Given the description of an element on the screen output the (x, y) to click on. 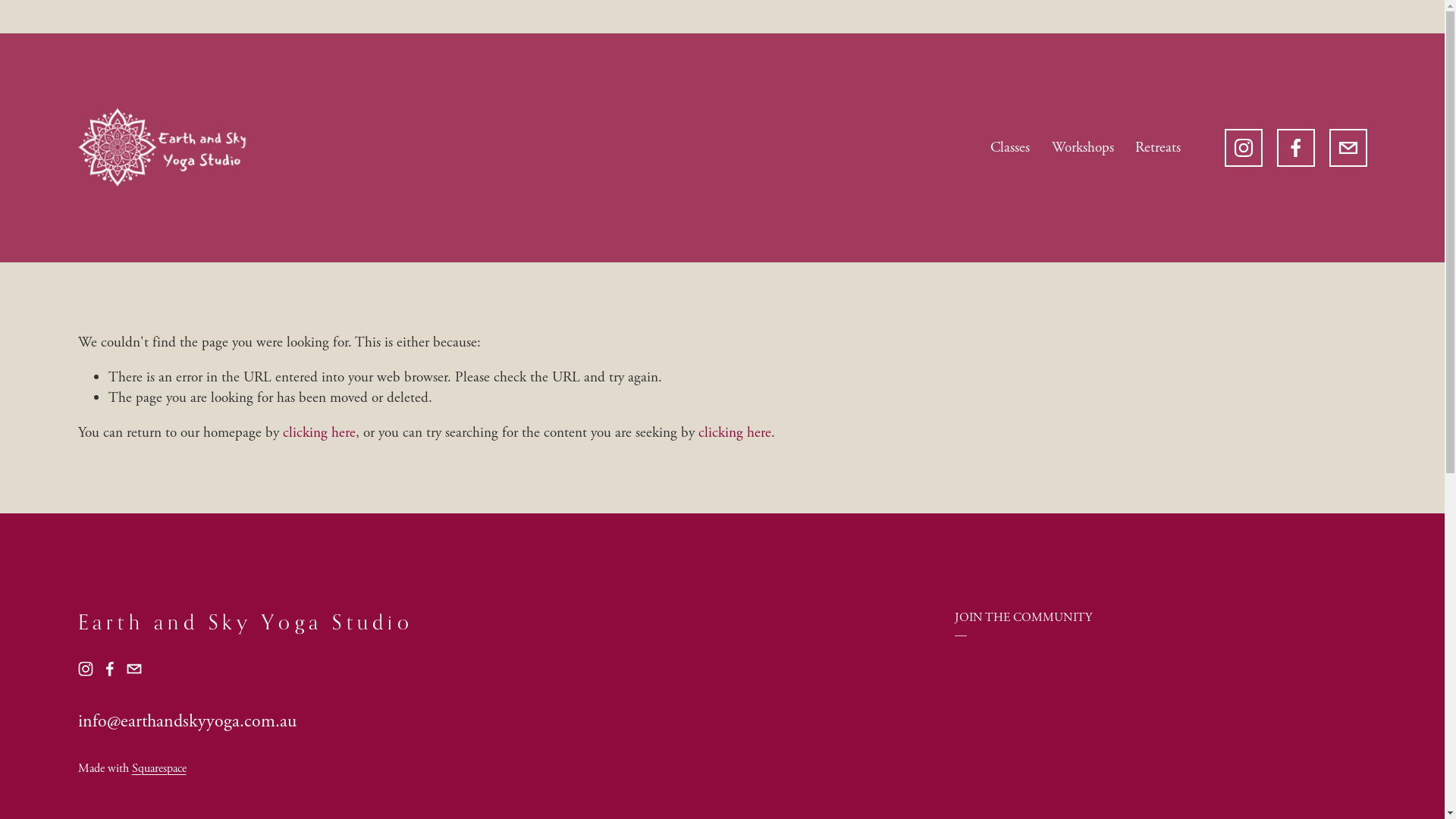
clicking here Element type: text (318, 432)
Classes Element type: text (1009, 148)
Retreats Element type: text (1157, 148)
clicking here Element type: text (733, 432)
Squarespace Element type: text (158, 768)
Workshops Element type: text (1082, 148)
